Given the description of an element on the screen output the (x, y) to click on. 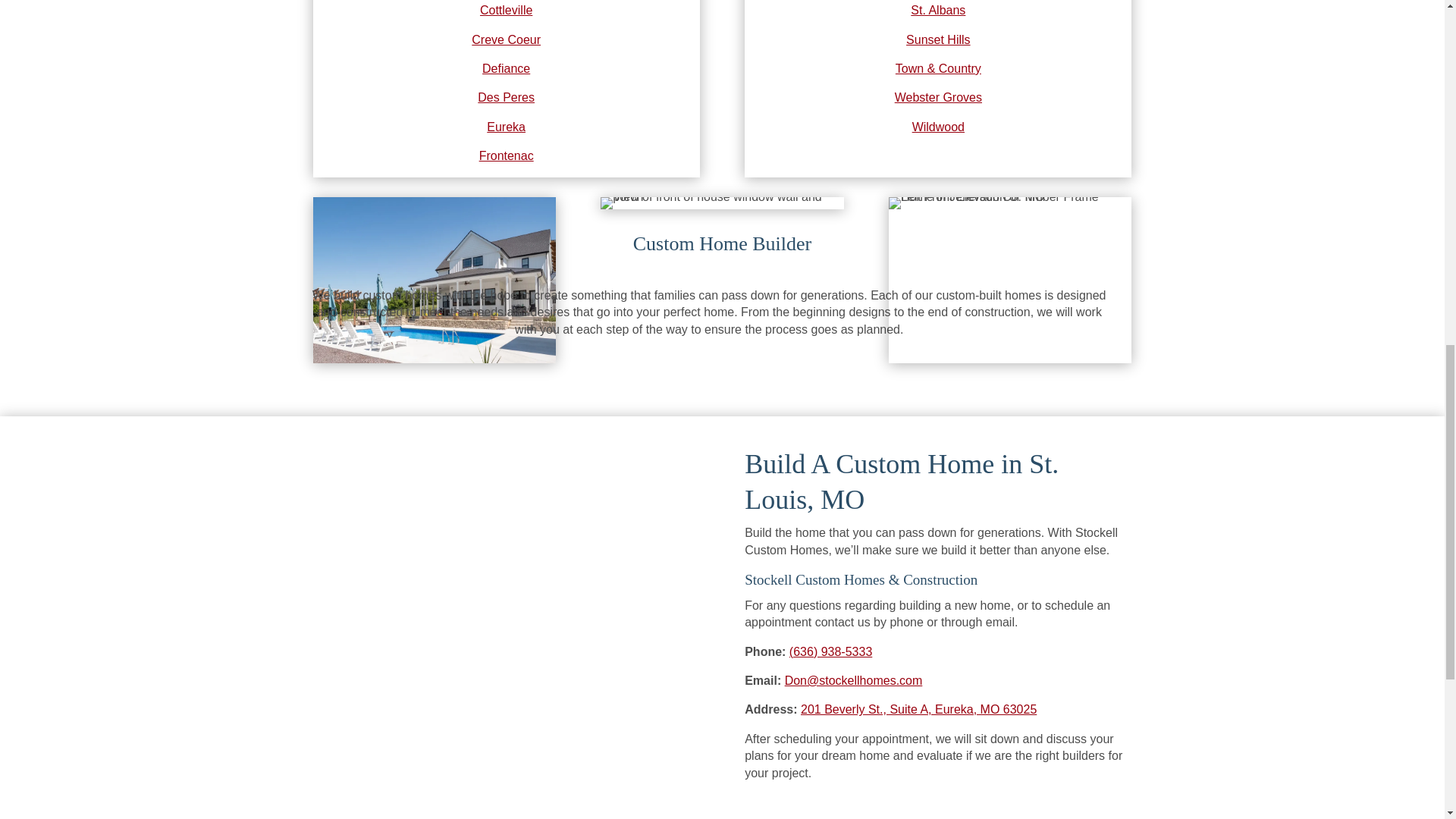
Timber Frame Home.  Left Front view. (1009, 280)
Creve Coeur (505, 39)
Cottleville (506, 10)
Front of House - Modern Ranch home in St Louis County (721, 203)
Modern Farmhouse Rear Elevation overlooking pool. (433, 280)
